Given the description of an element on the screen output the (x, y) to click on. 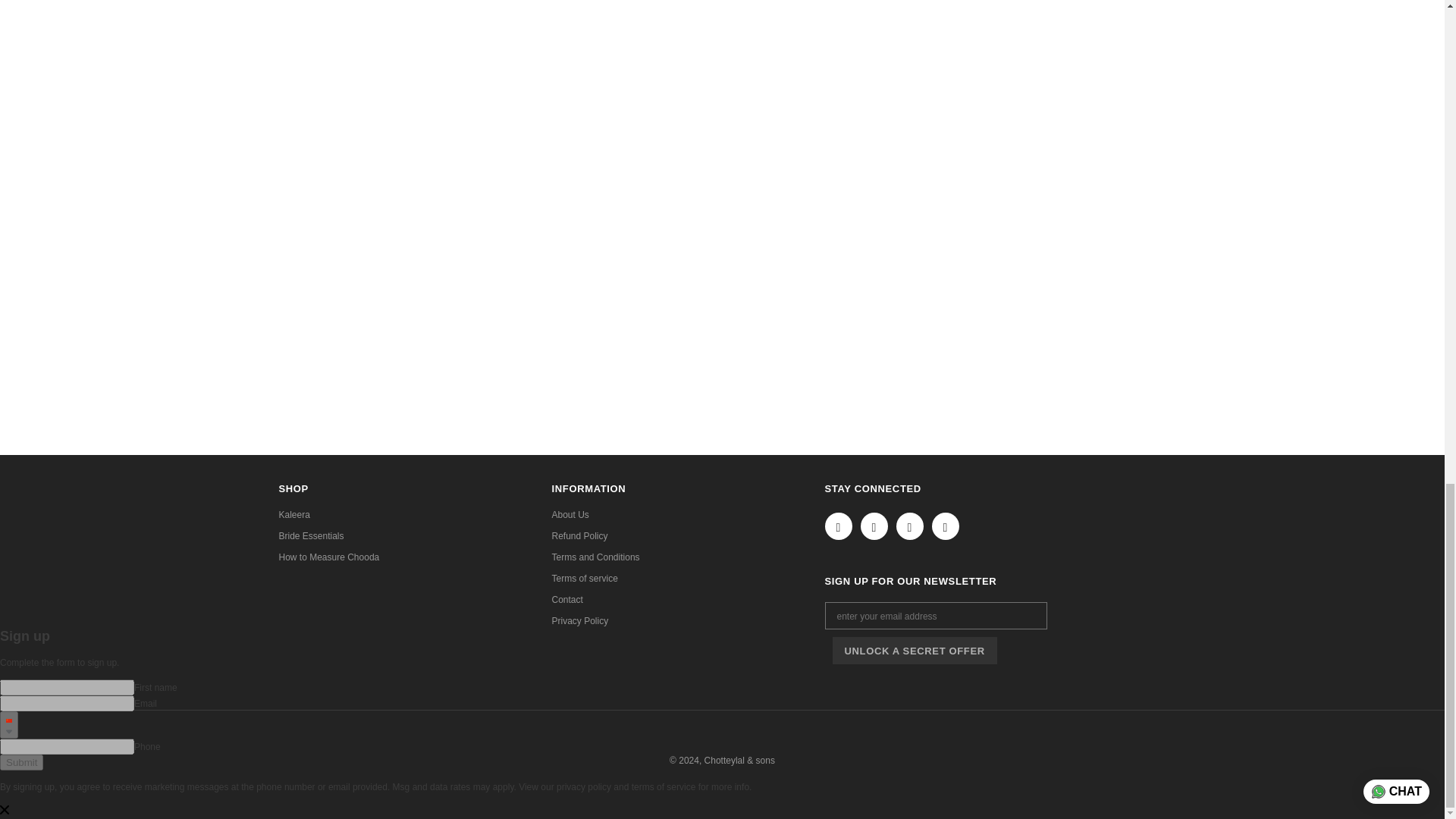
Kaleera (294, 514)
Refund Policy (579, 536)
Refund Policy (579, 536)
How to Measure Chooda (329, 557)
Bride Essentials (311, 536)
Kaleera (294, 514)
About Us (570, 514)
Terms and Conditions (595, 557)
Bride Essentials (311, 536)
About Us (570, 514)
How to Measure Chooda (329, 557)
UNLOCK A SECRET OFFER (914, 650)
Terms and Conditions (595, 557)
